Given the description of an element on the screen output the (x, y) to click on. 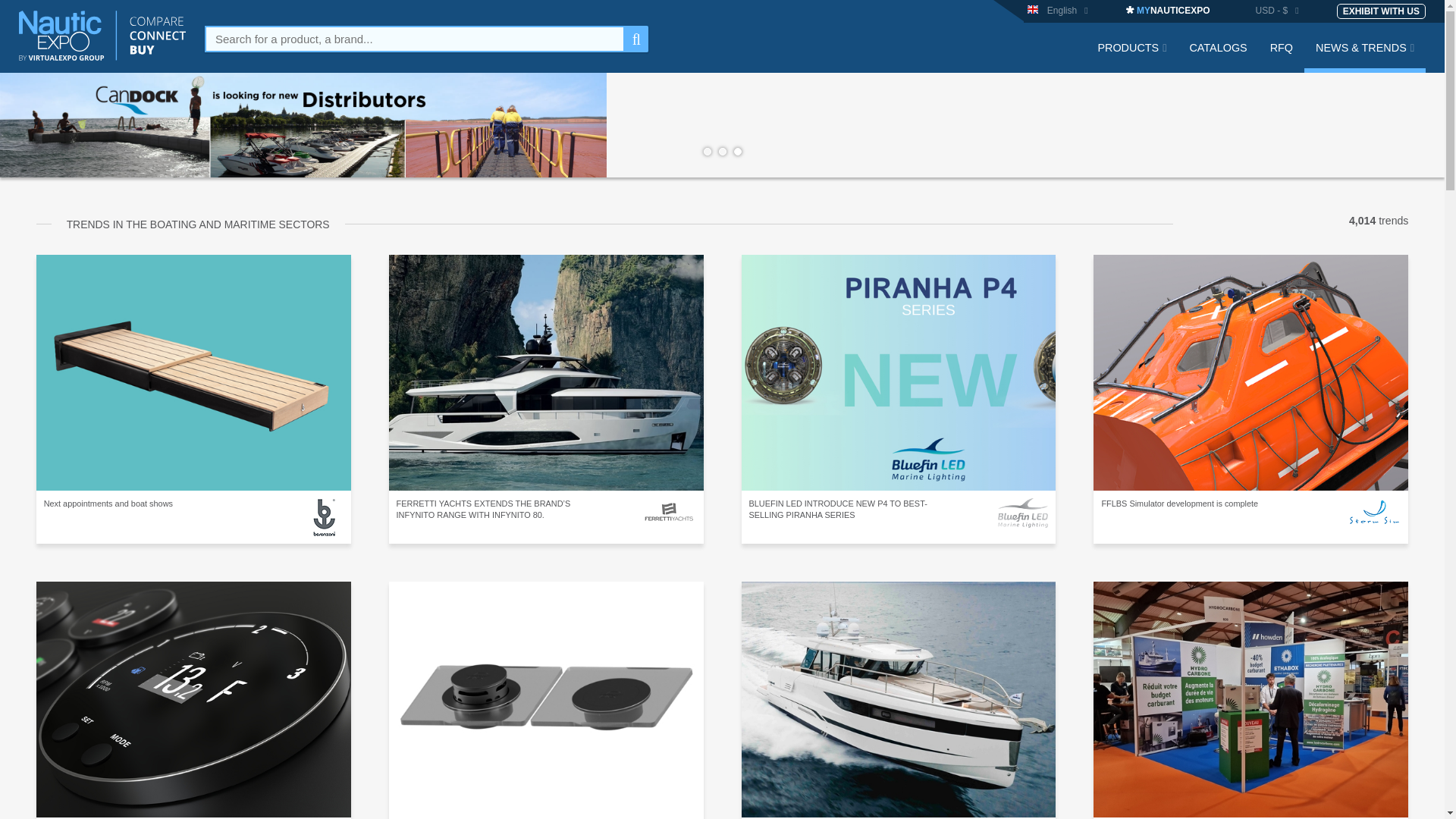
EXHIBIT WITH US (1380, 11)
